Given the description of an element on the screen output the (x, y) to click on. 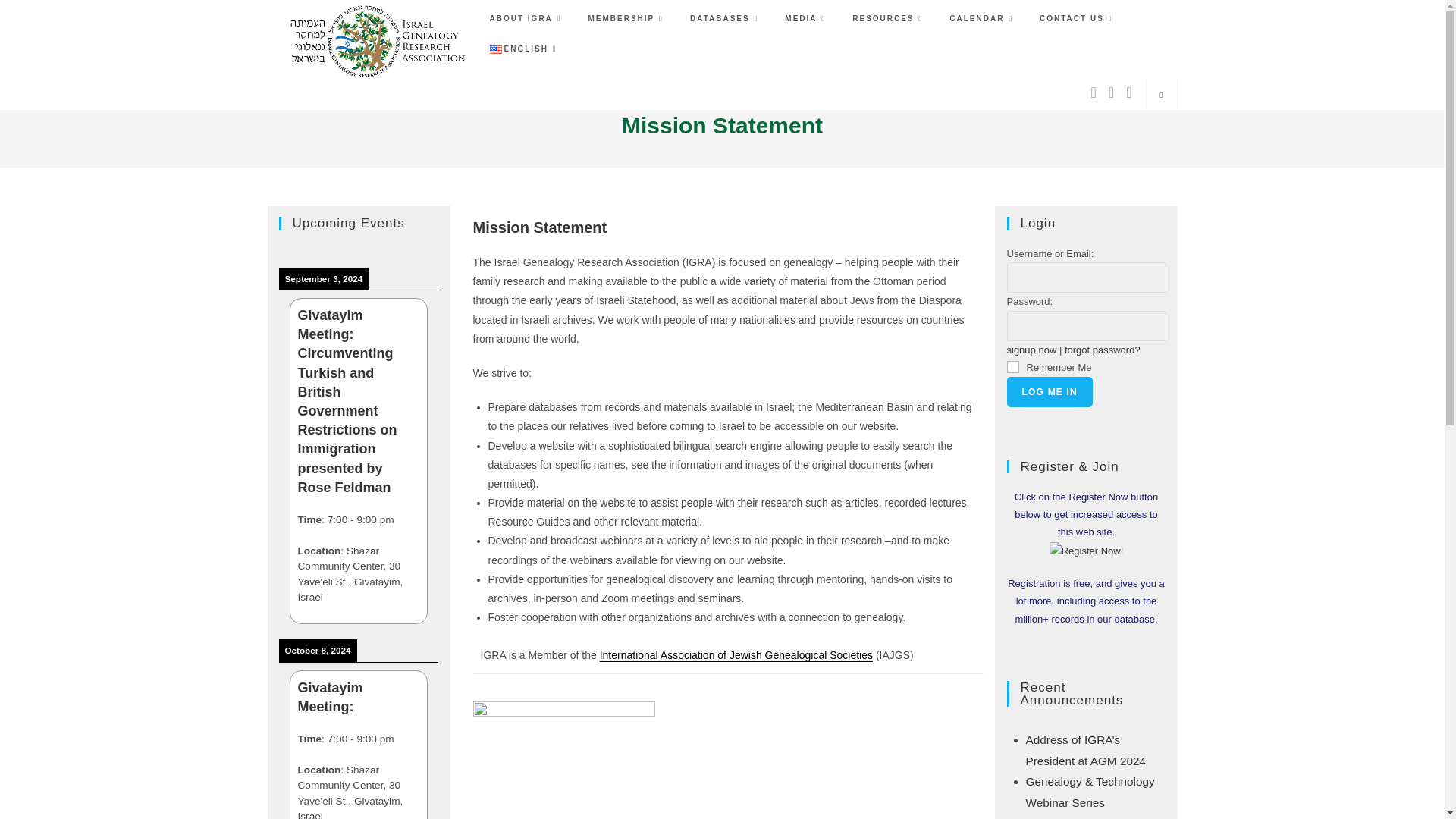
forever (1013, 367)
RESOURCES (889, 19)
Username (1086, 277)
Log Me In (1050, 391)
ABOUT IGRA (526, 19)
MEMBERSHIP (627, 19)
Password (1086, 326)
DATABASES (725, 19)
MEDIA (807, 19)
